Given the description of an element on the screen output the (x, y) to click on. 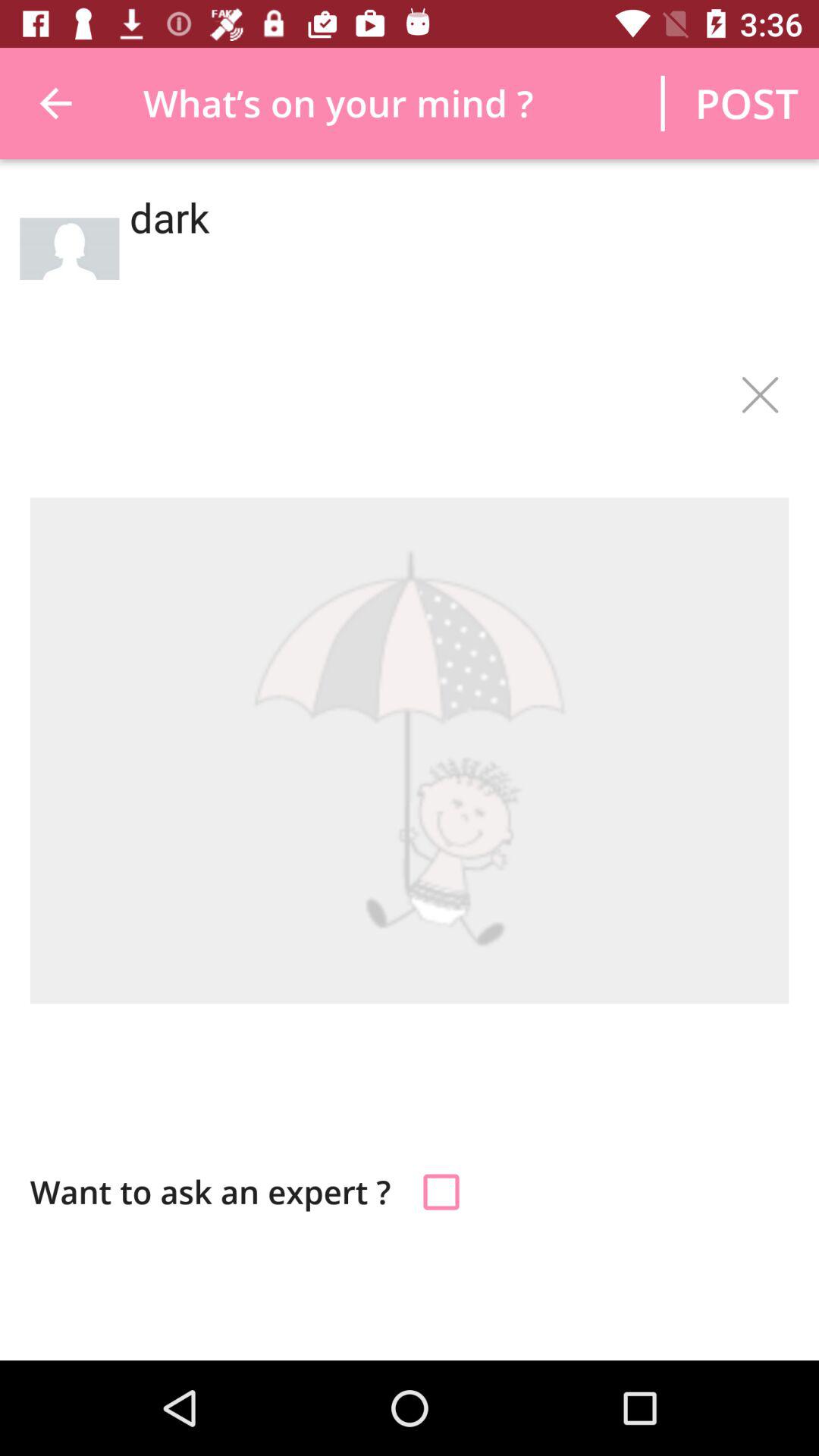
click dark icon (454, 265)
